Given the description of an element on the screen output the (x, y) to click on. 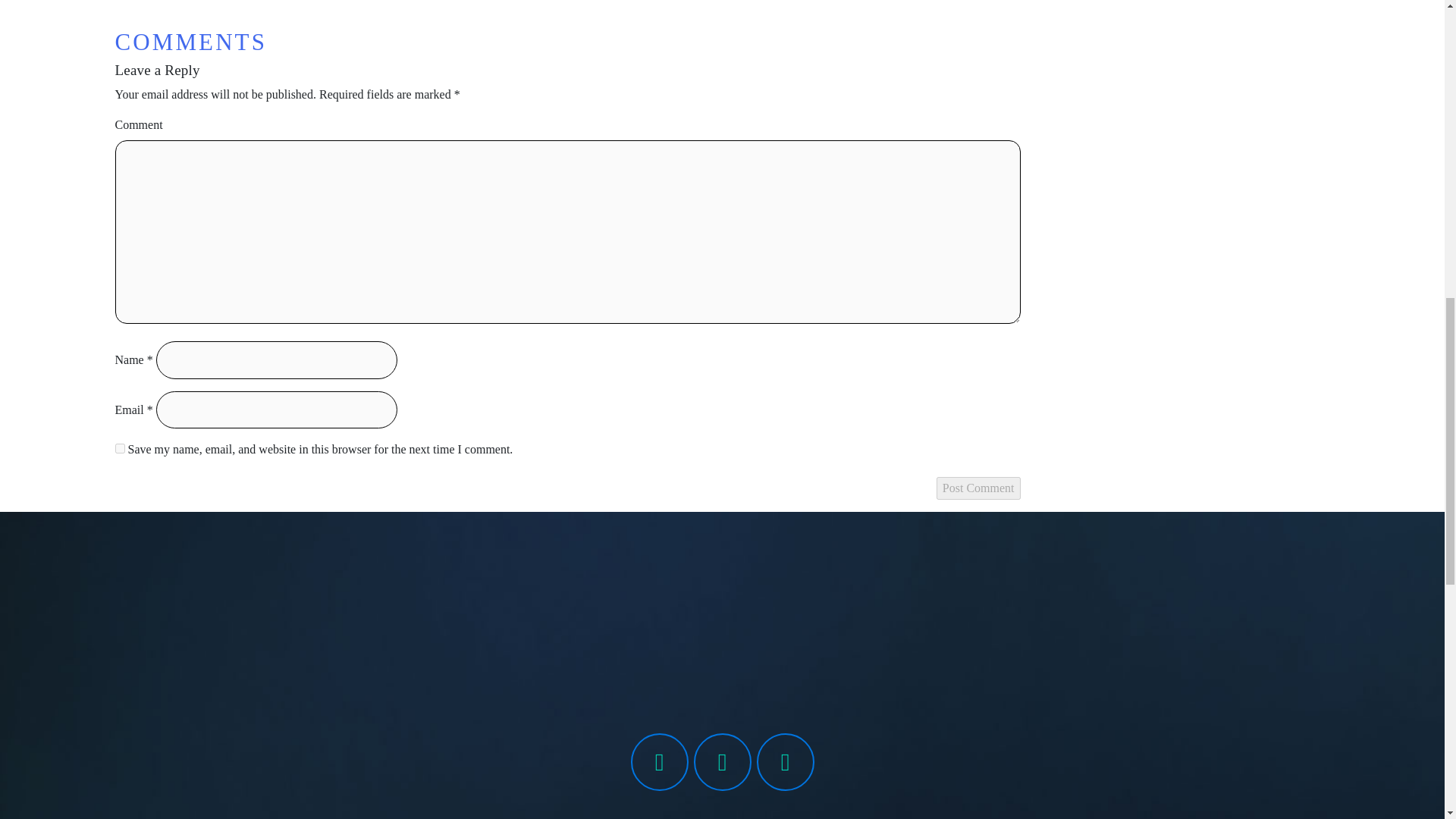
Post Comment (978, 487)
Facebook (659, 762)
yes (120, 448)
Linkedin (785, 762)
Twitter (722, 762)
Post Comment (978, 487)
